Given the description of an element on the screen output the (x, y) to click on. 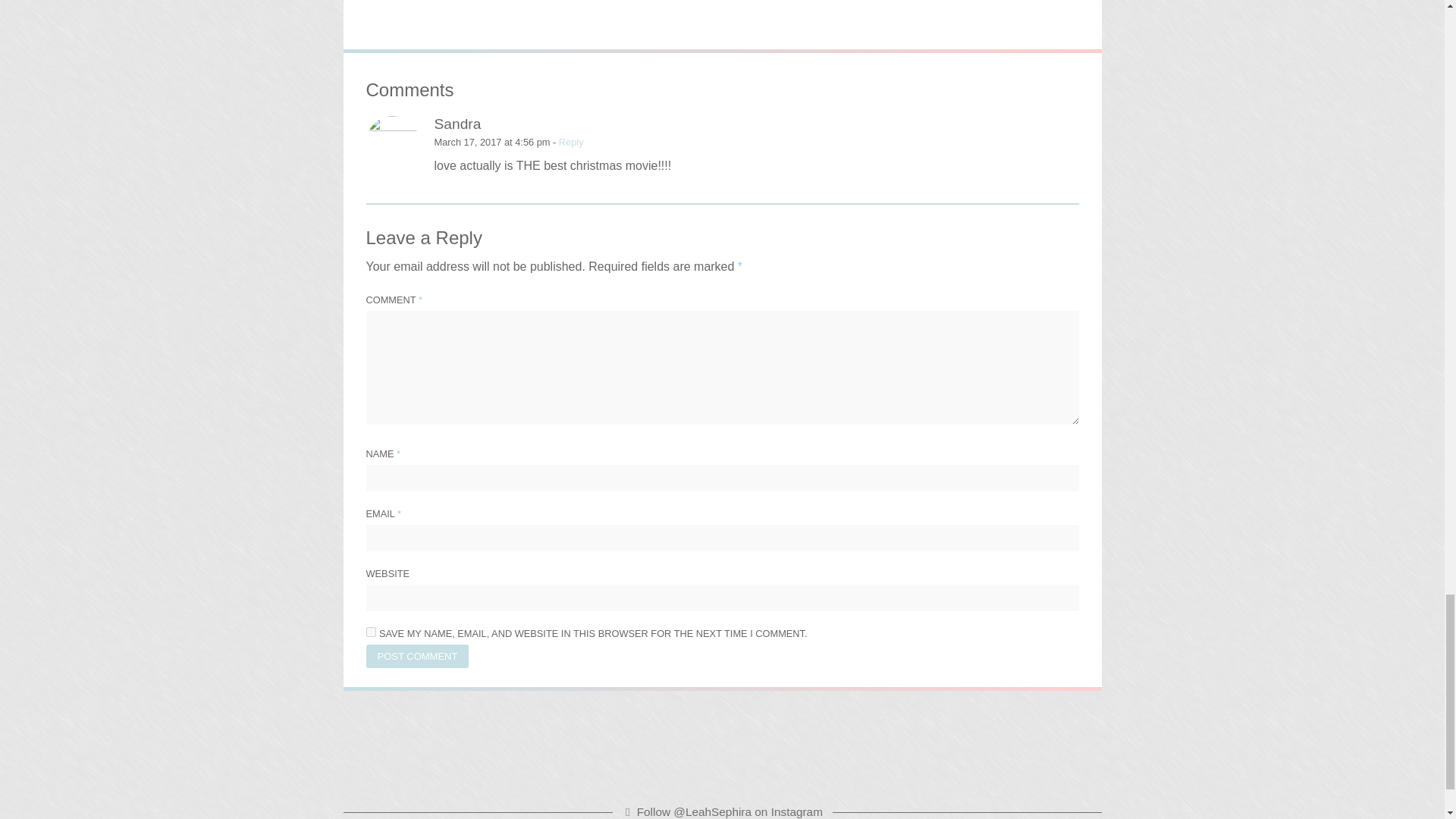
yes (370, 632)
Post Comment (416, 656)
